Given the description of an element on the screen output the (x, y) to click on. 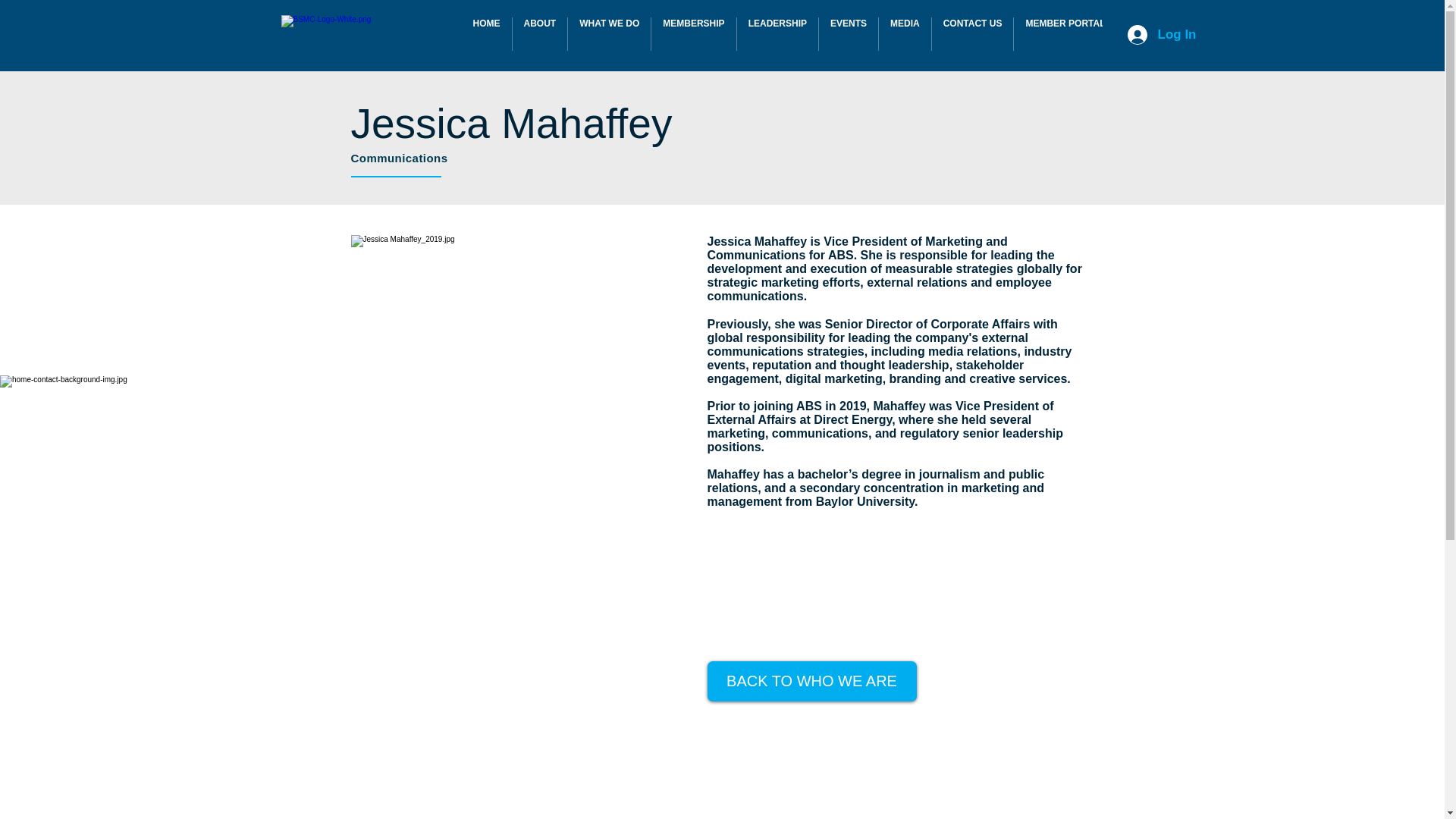
CONTACT US (972, 33)
EVENTS (847, 33)
BACK TO WHO WE ARE (810, 680)
HOME (486, 33)
LEADERSHIP (777, 33)
WHAT WE DO (608, 33)
MEDIA (905, 33)
Log In (1161, 34)
MEMBER PORTAL (1064, 33)
ABOUT (539, 33)
